Given the description of an element on the screen output the (x, y) to click on. 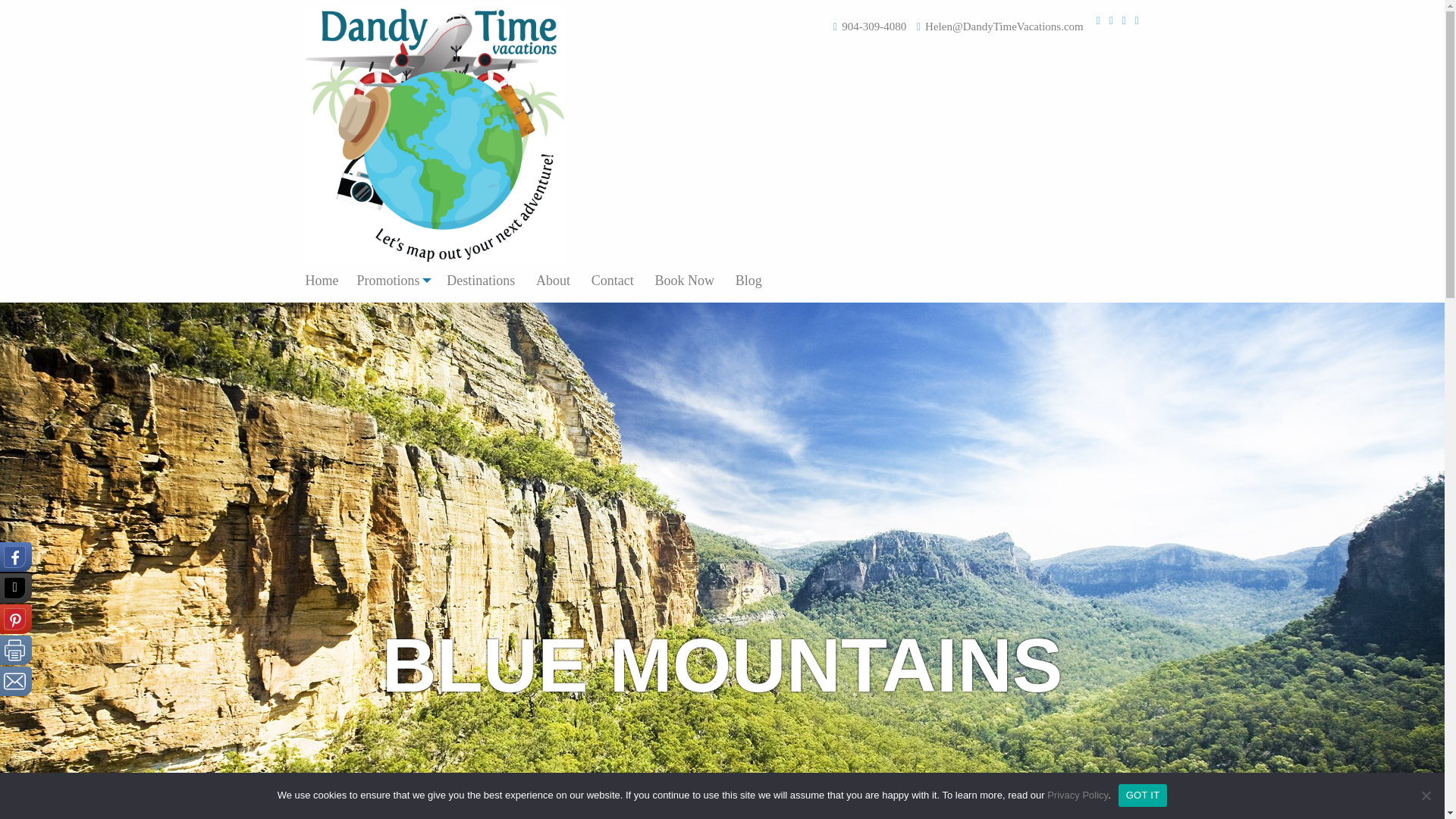
No (1425, 795)
Home (325, 280)
904-309-4080 (873, 26)
Dandy Time Vacations (433, 134)
Destinations (481, 280)
Promotions (390, 280)
About (553, 280)
Contact (612, 280)
